Given the description of an element on the screen output the (x, y) to click on. 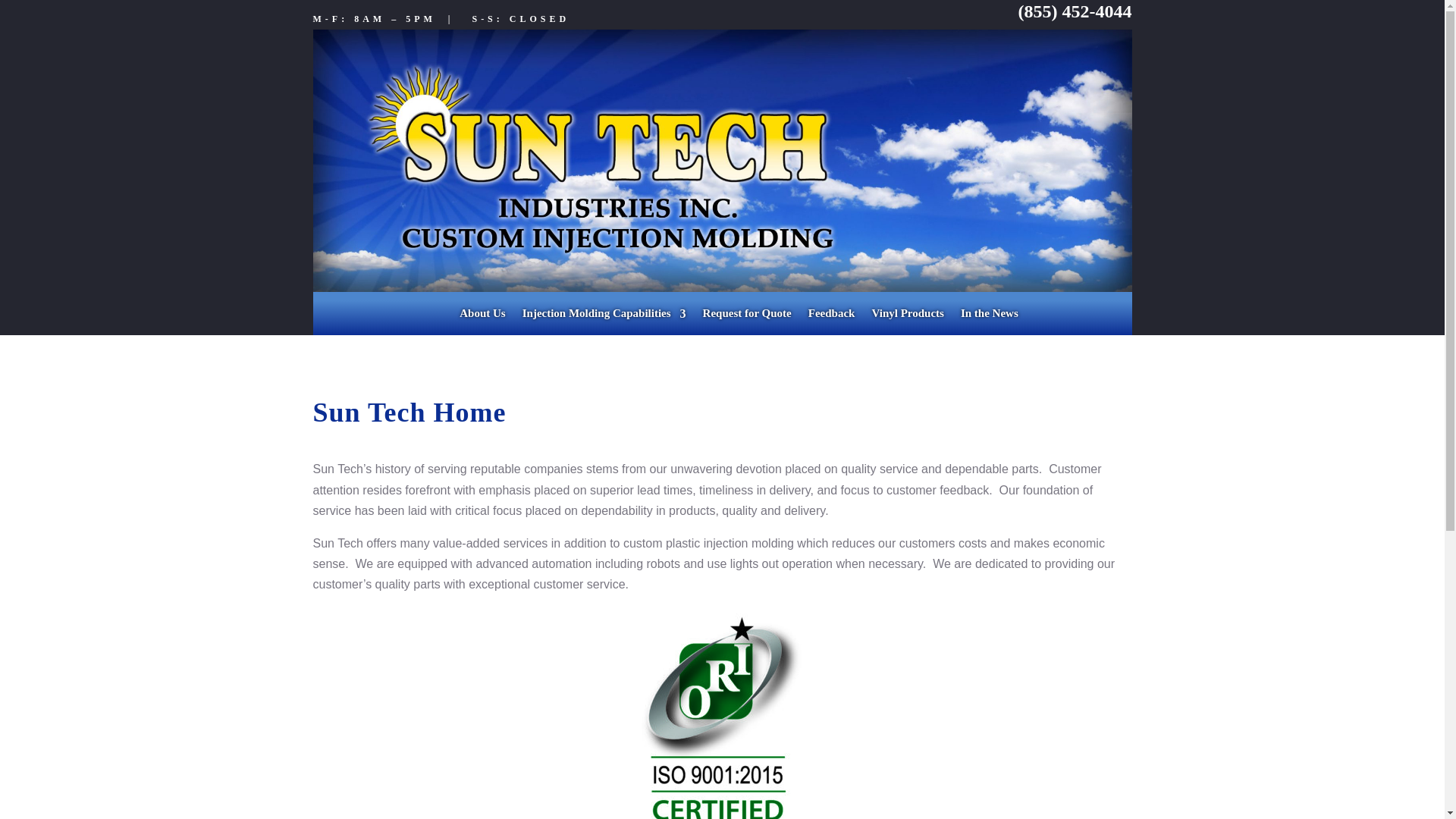
Vinyl Products (906, 316)
Request for Quote (747, 316)
Injection Molding Capabilities (603, 316)
Feedback (832, 316)
About Us (482, 316)
In the News (988, 316)
